Given the description of an element on the screen output the (x, y) to click on. 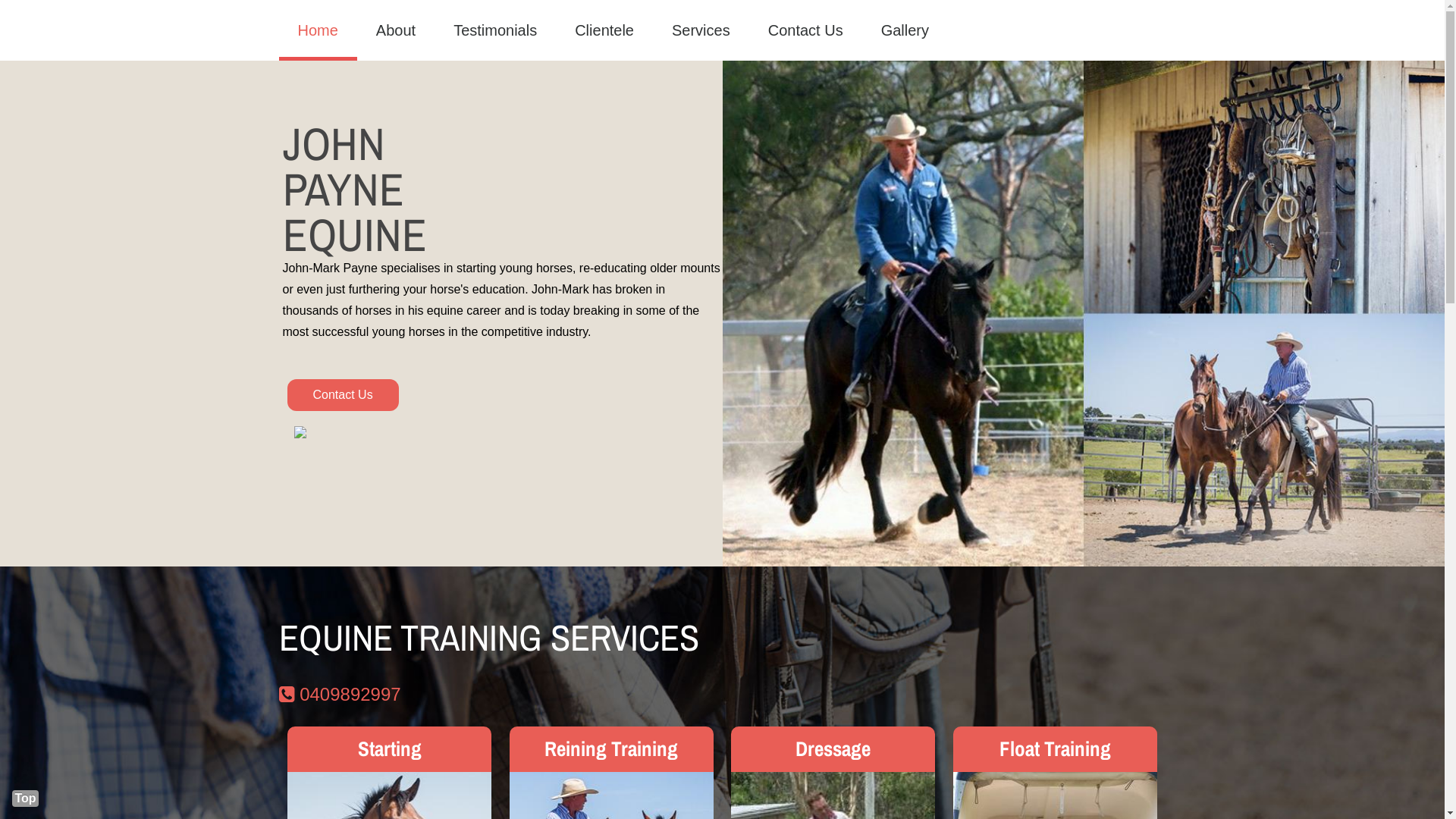
Clientele Element type: text (603, 30)
Gallery Element type: text (904, 30)
Top Element type: text (25, 798)
About Element type: text (395, 30)
Testimonials Element type: text (494, 30)
Contact Us Element type: text (805, 30)
Services Element type: text (700, 30)
0409892997 Element type: text (340, 694)
Home Element type: text (318, 30)
Contact Us Element type: text (342, 395)
